Given the description of an element on the screen output the (x, y) to click on. 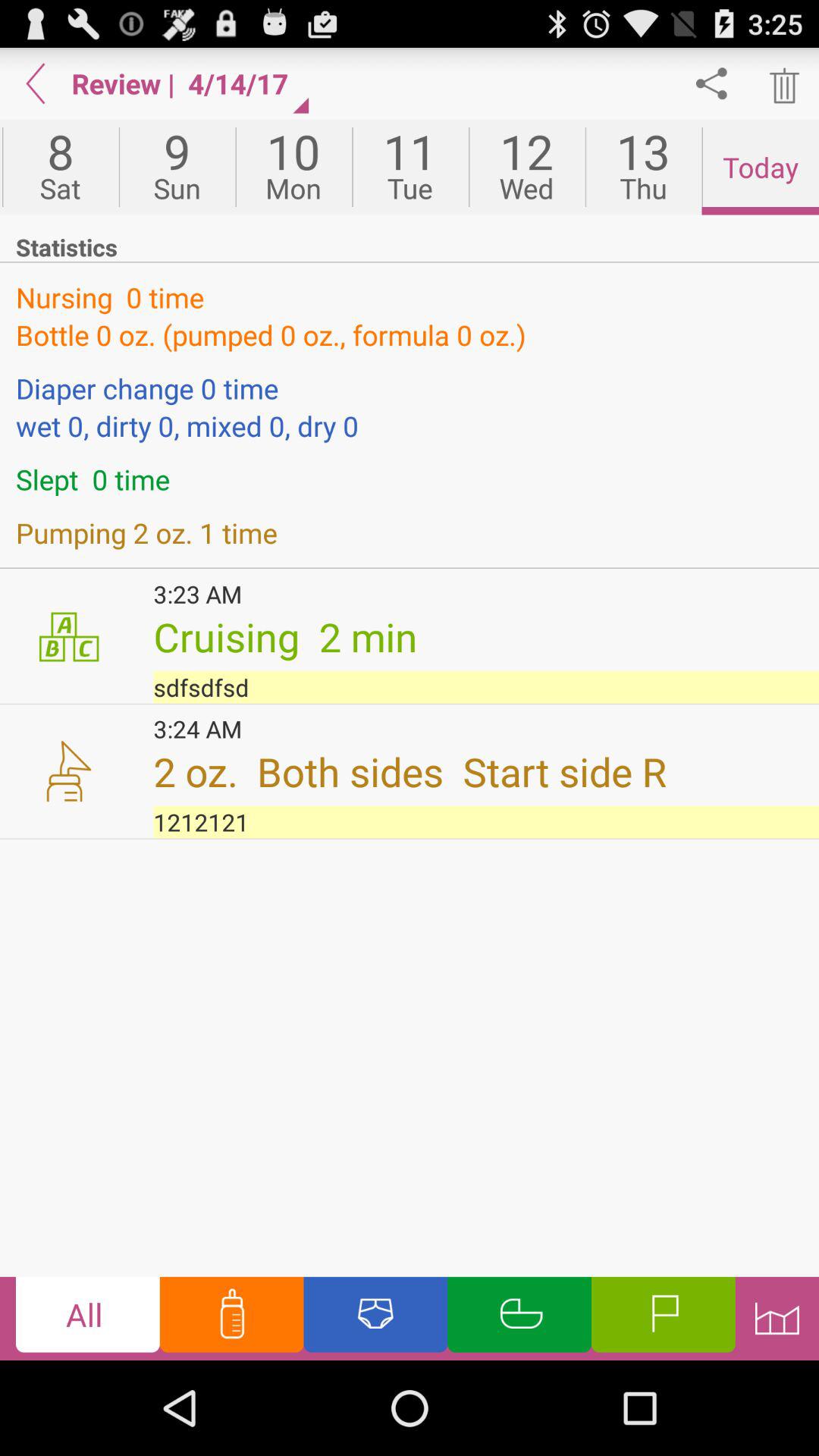
press item above the statistics app (410, 166)
